Given the description of an element on the screen output the (x, y) to click on. 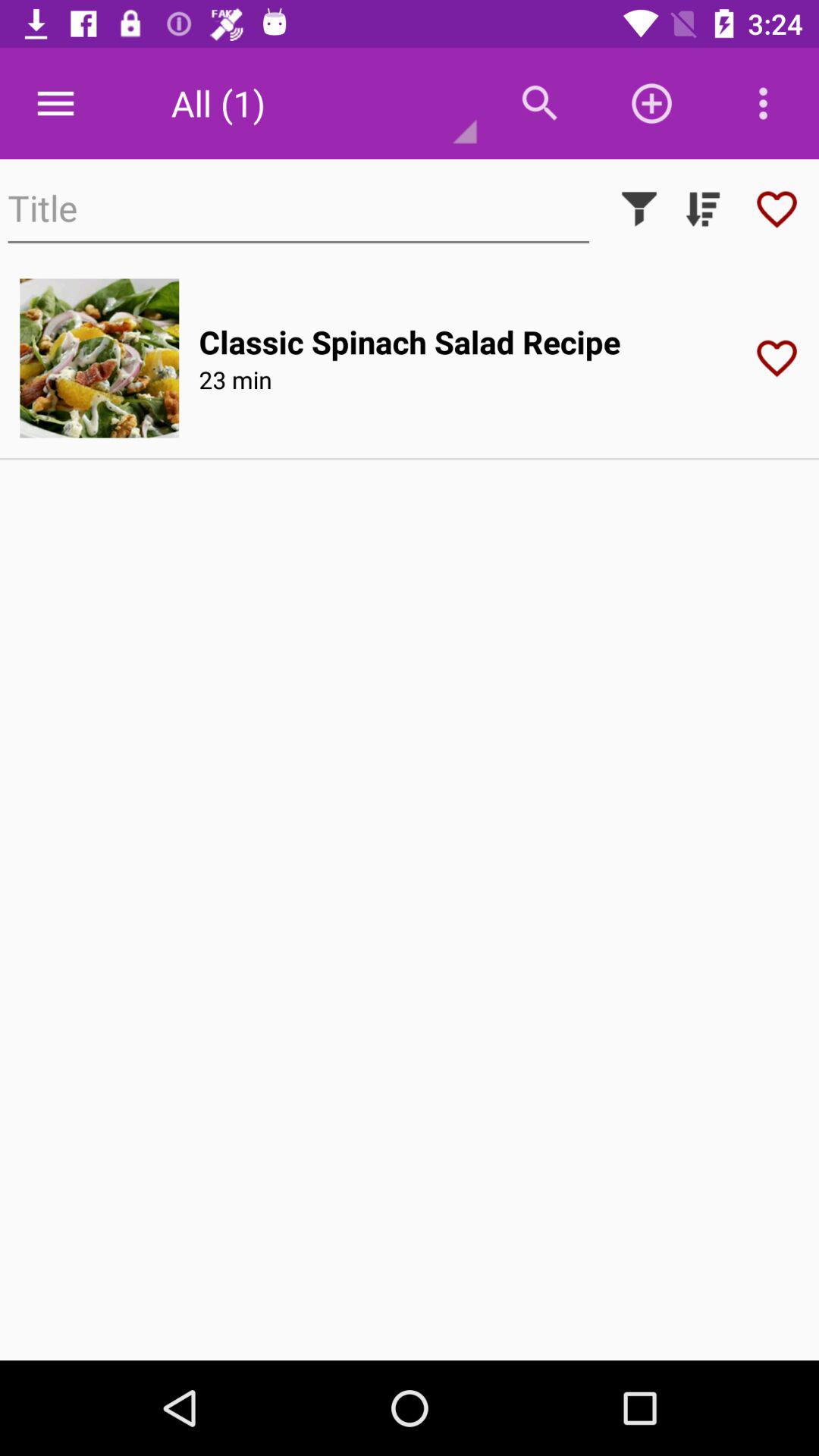
turn on icon above the 23 min icon (409, 341)
